Given the description of an element on the screen output the (x, y) to click on. 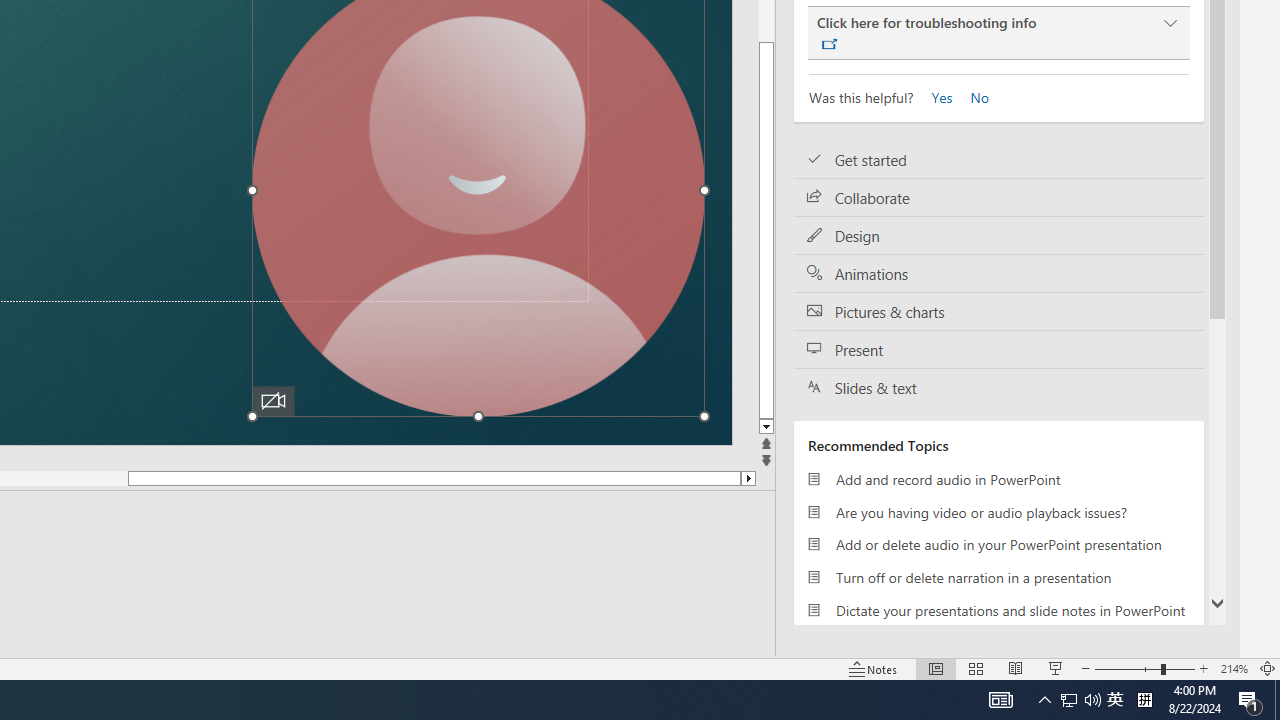
Yes (936, 96)
Collaborate (998, 197)
Turn off or delete narration in a presentation (998, 577)
Slides & text (998, 387)
Get started (998, 160)
Add and record audio in PowerPoint (998, 479)
Are you having video or audio playback issues? (998, 512)
Pictures & charts (998, 312)
